Given the description of an element on the screen output the (x, y) to click on. 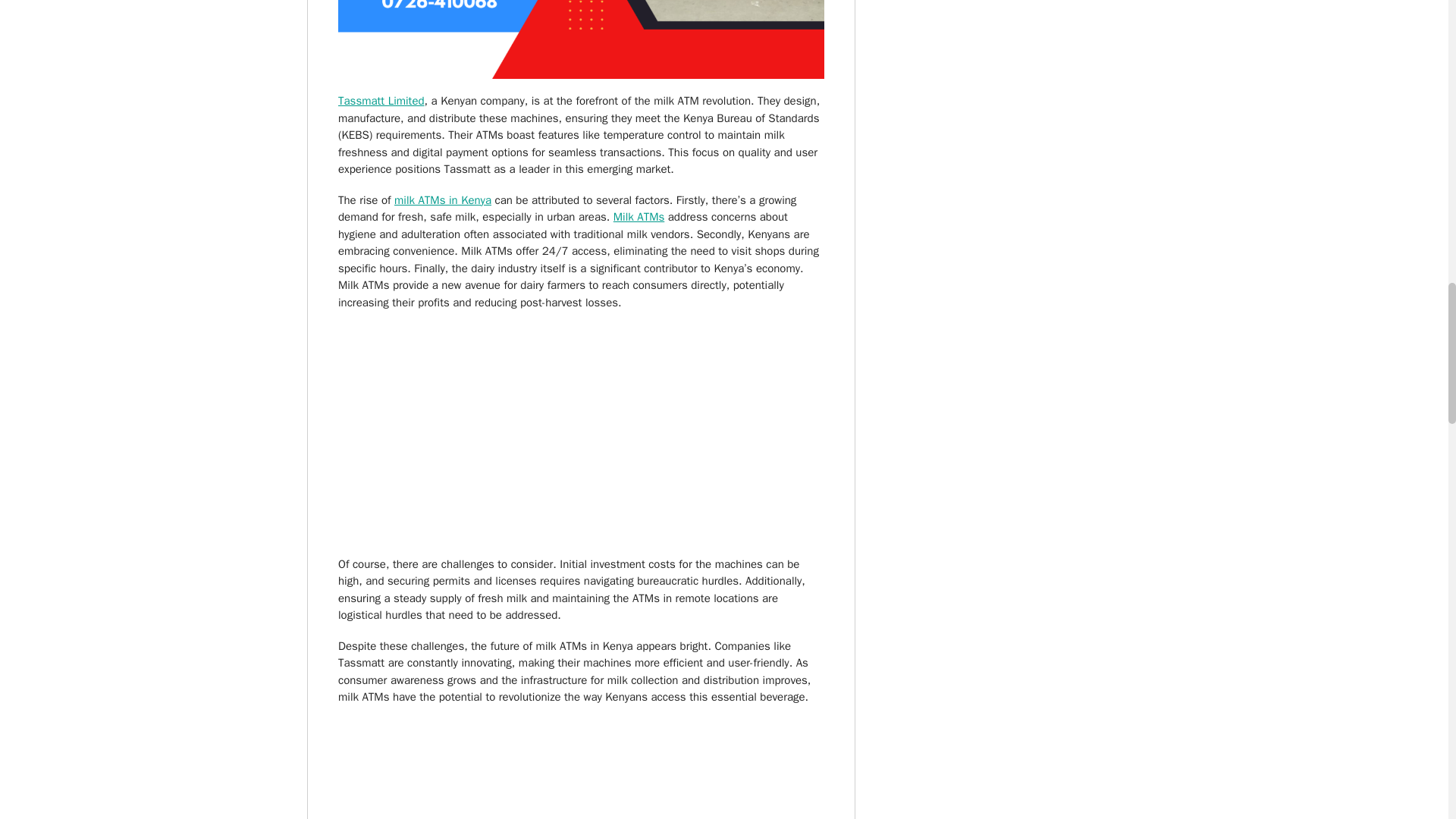
Advertisement (580, 433)
Advertisement (580, 769)
